Given the description of an element on the screen output the (x, y) to click on. 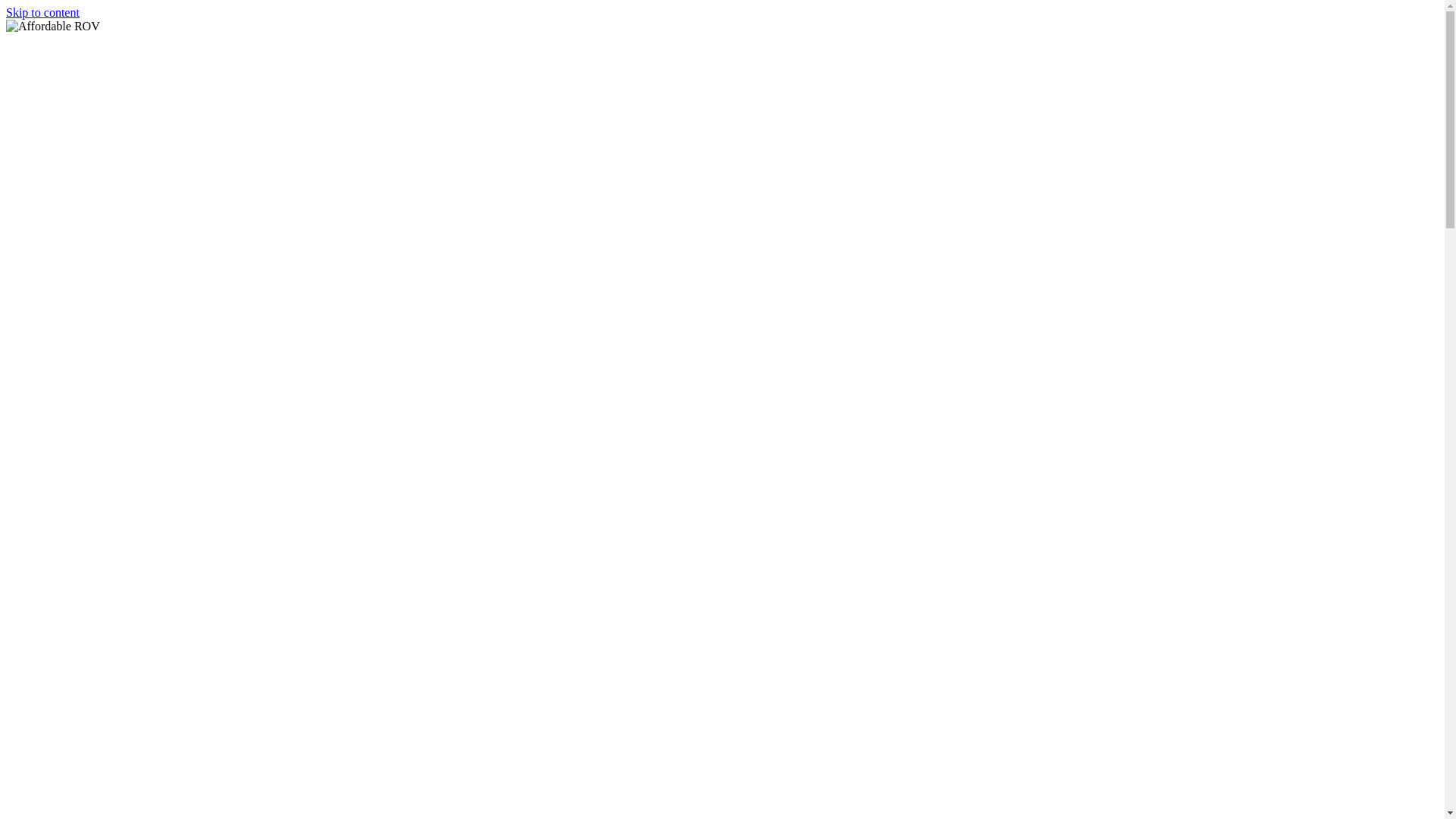
Skip to content Element type: text (42, 12)
Affordable ROV Element type: text (41, 45)
